Given the description of an element on the screen output the (x, y) to click on. 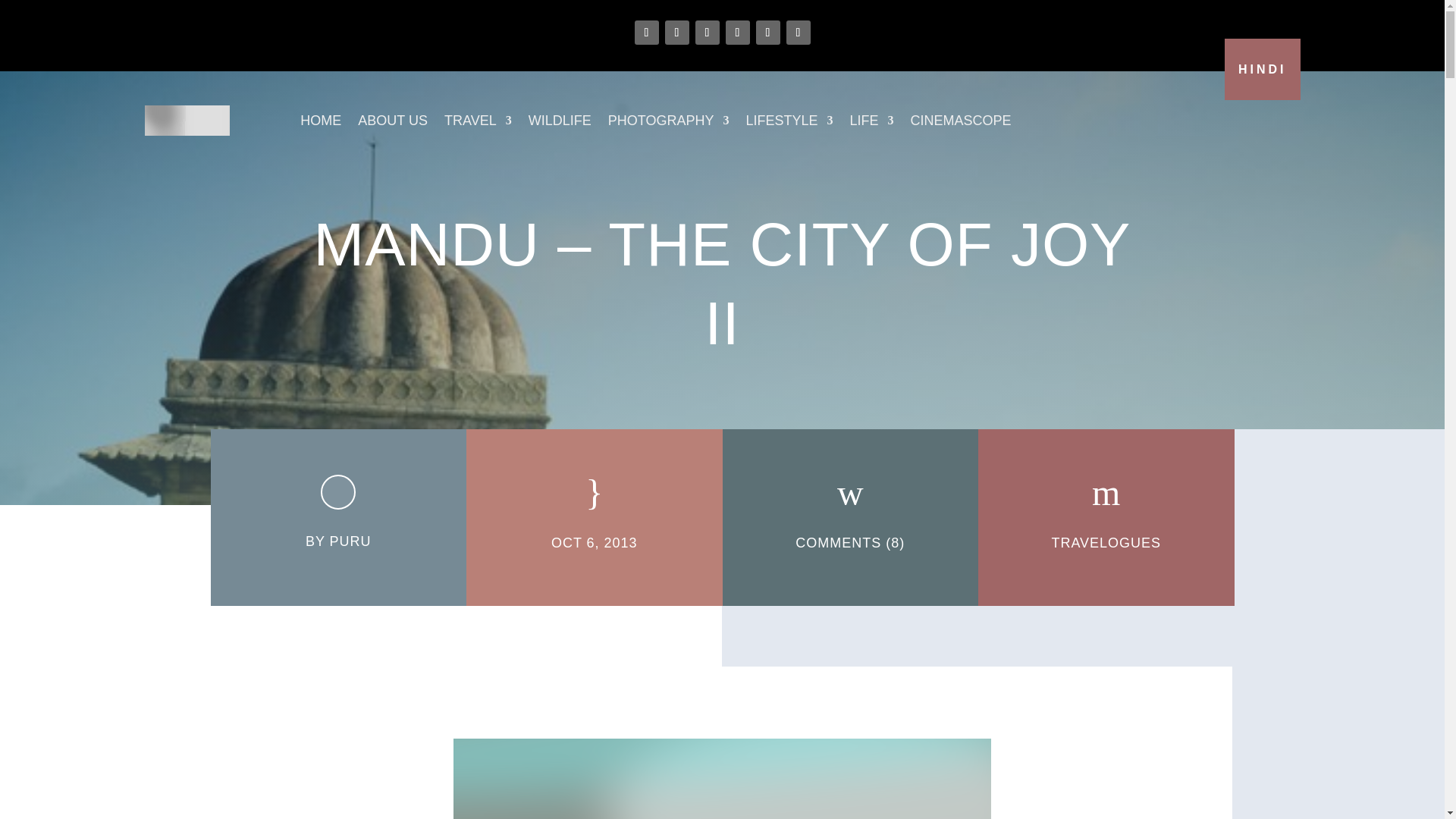
Follow on Facebook (645, 32)
TRAVEL (478, 120)
Follow on X (675, 32)
Follow on Flickr (766, 32)
Follow on Youtube (737, 32)
Mandu - The City of Joy II 1 (721, 778)
PHOTOGRAPHY (668, 120)
ABOUT US (393, 120)
WILDLIFE (559, 120)
Follow on RSS (797, 32)
